Given the description of an element on the screen output the (x, y) to click on. 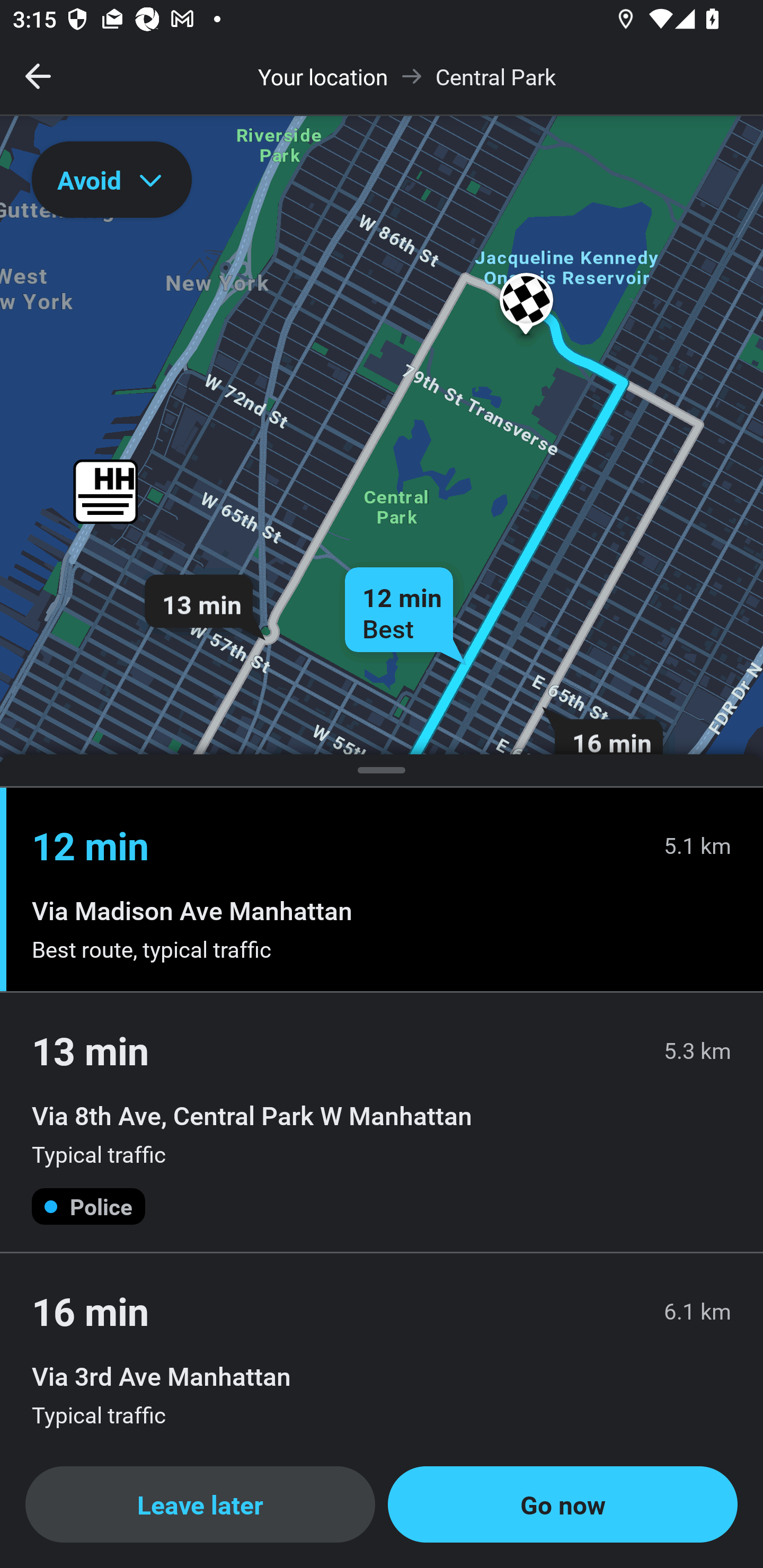
Leave later (200, 1504)
Go now (562, 1504)
